Given the description of an element on the screen output the (x, y) to click on. 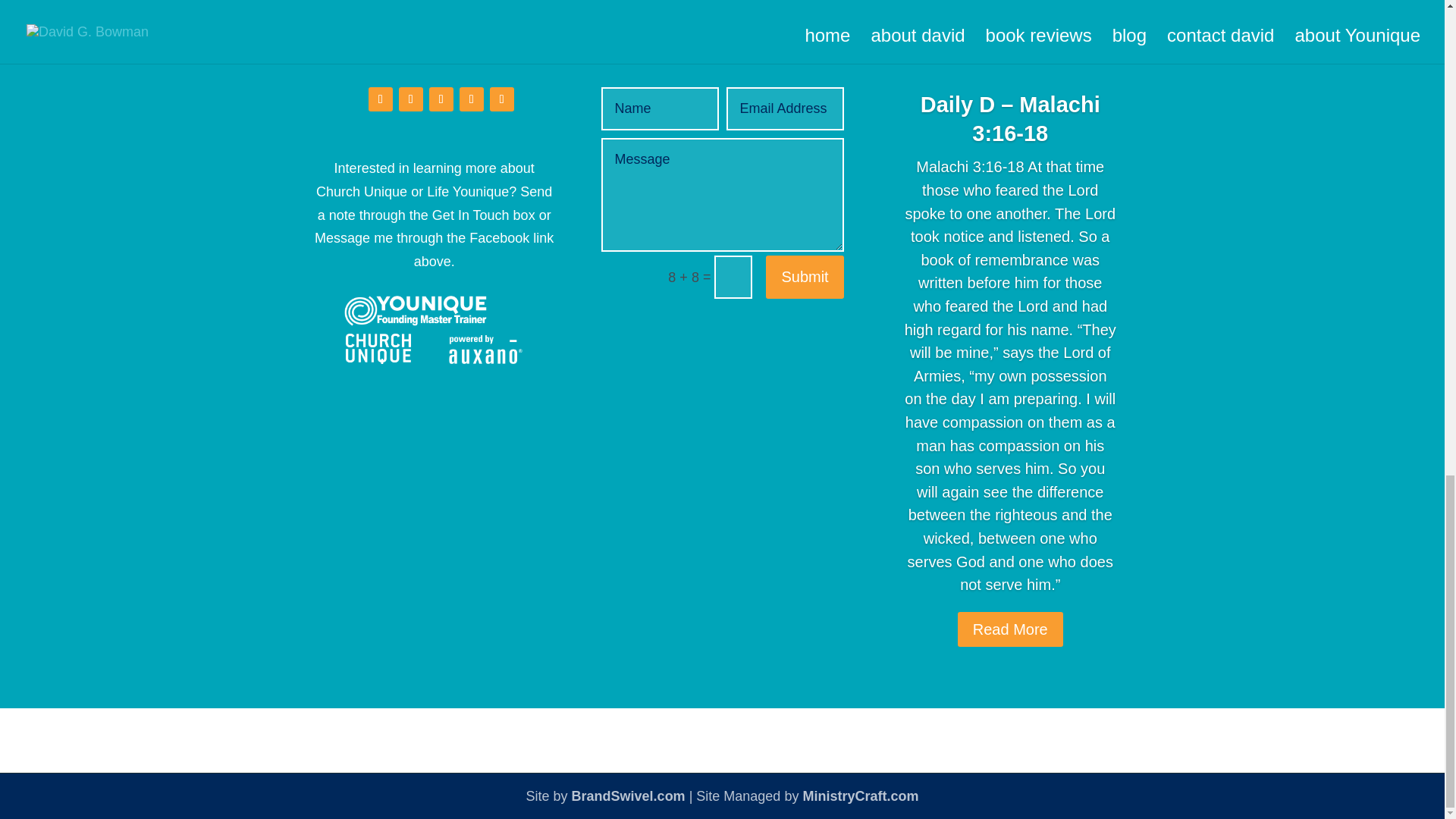
Follow on LinkedIn (440, 98)
Follow on Twitter (410, 98)
Read More (1010, 651)
Submit (804, 276)
Follow on Instagram (471, 98)
Follow on Pinterest (501, 98)
Follow on Facebook (380, 98)
